Given the description of an element on the screen output the (x, y) to click on. 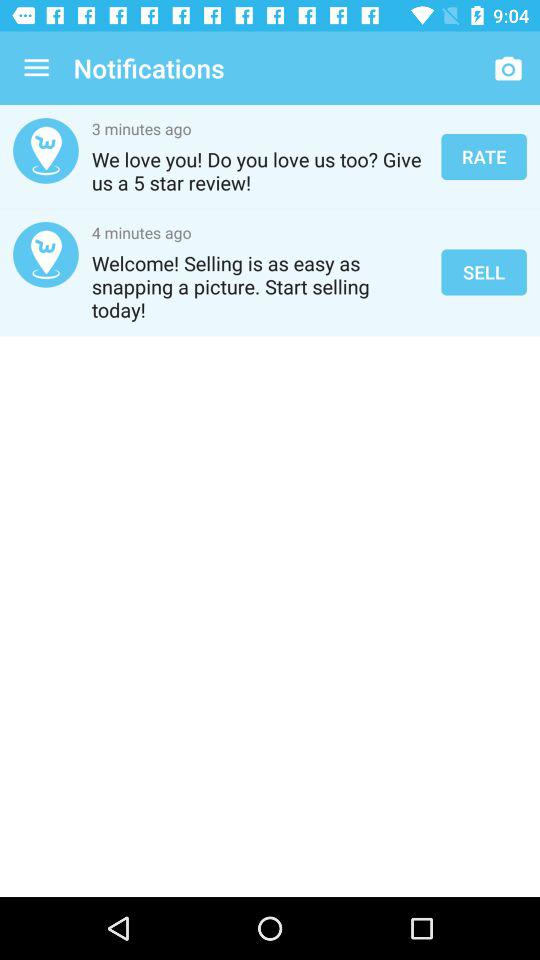
open icon above 4 minutes ago icon (259, 171)
